Given the description of an element on the screen output the (x, y) to click on. 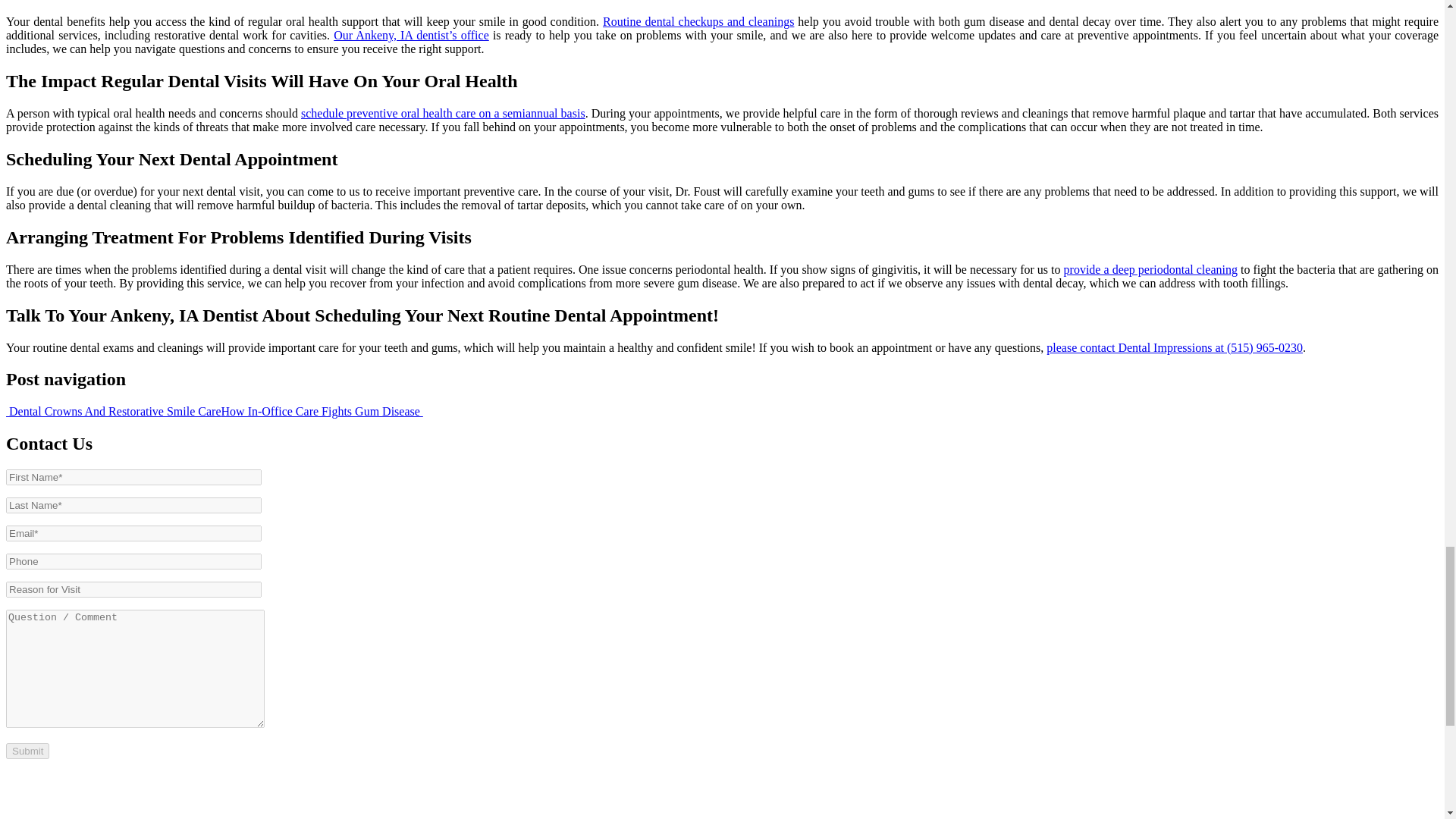
How In-Office Care Fights Gum Disease  (322, 410)
 Dental Crowns And Restorative Smile Care (113, 410)
Routine dental checkups and cleanings (697, 21)
provide a deep periodontal cleaning (1150, 269)
Submit (27, 750)
schedule preventive oral health care on a semiannual basis (443, 113)
Submit (27, 750)
